Given the description of an element on the screen output the (x, y) to click on. 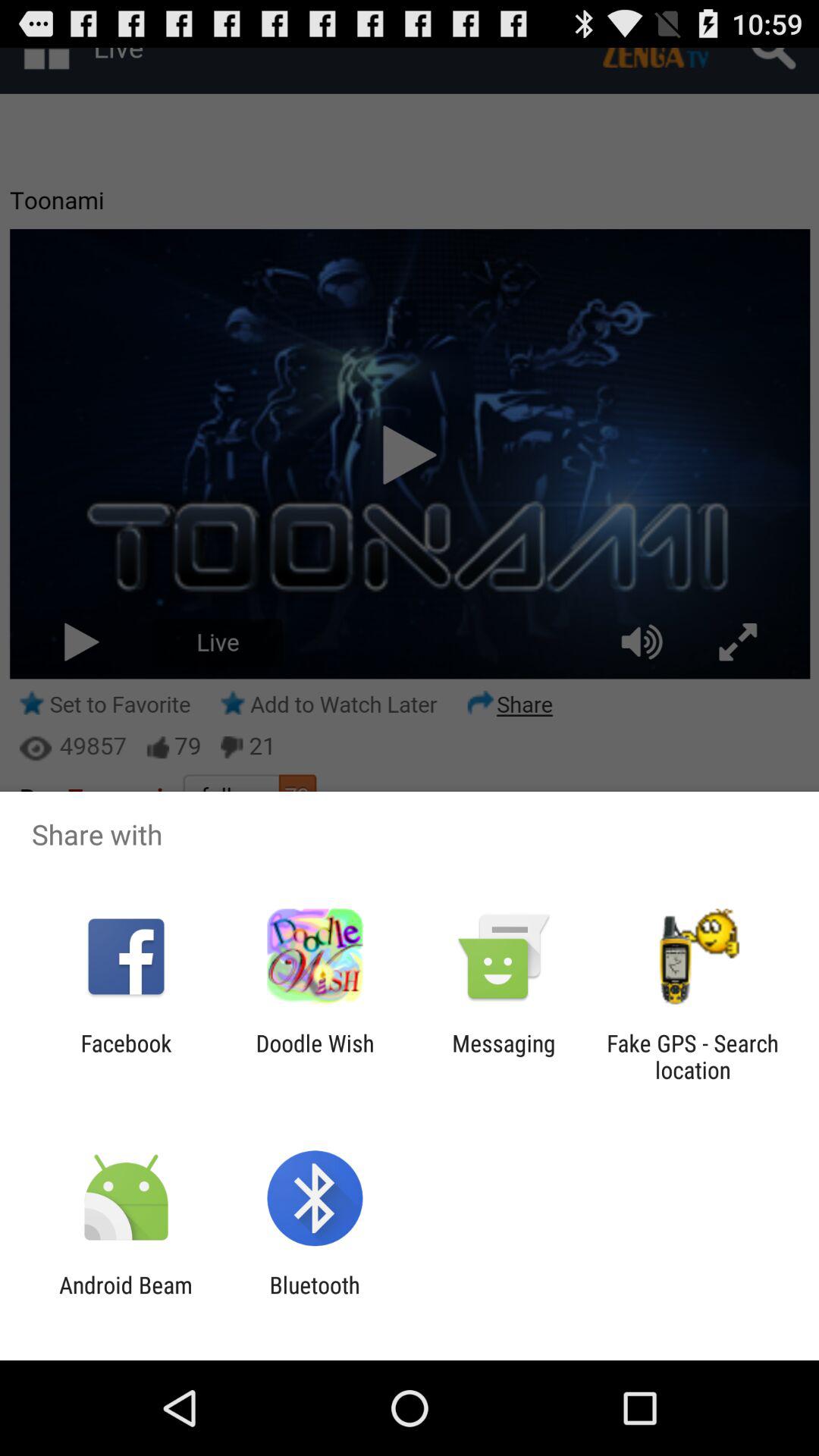
launch fake gps search icon (692, 1056)
